Given the description of an element on the screen output the (x, y) to click on. 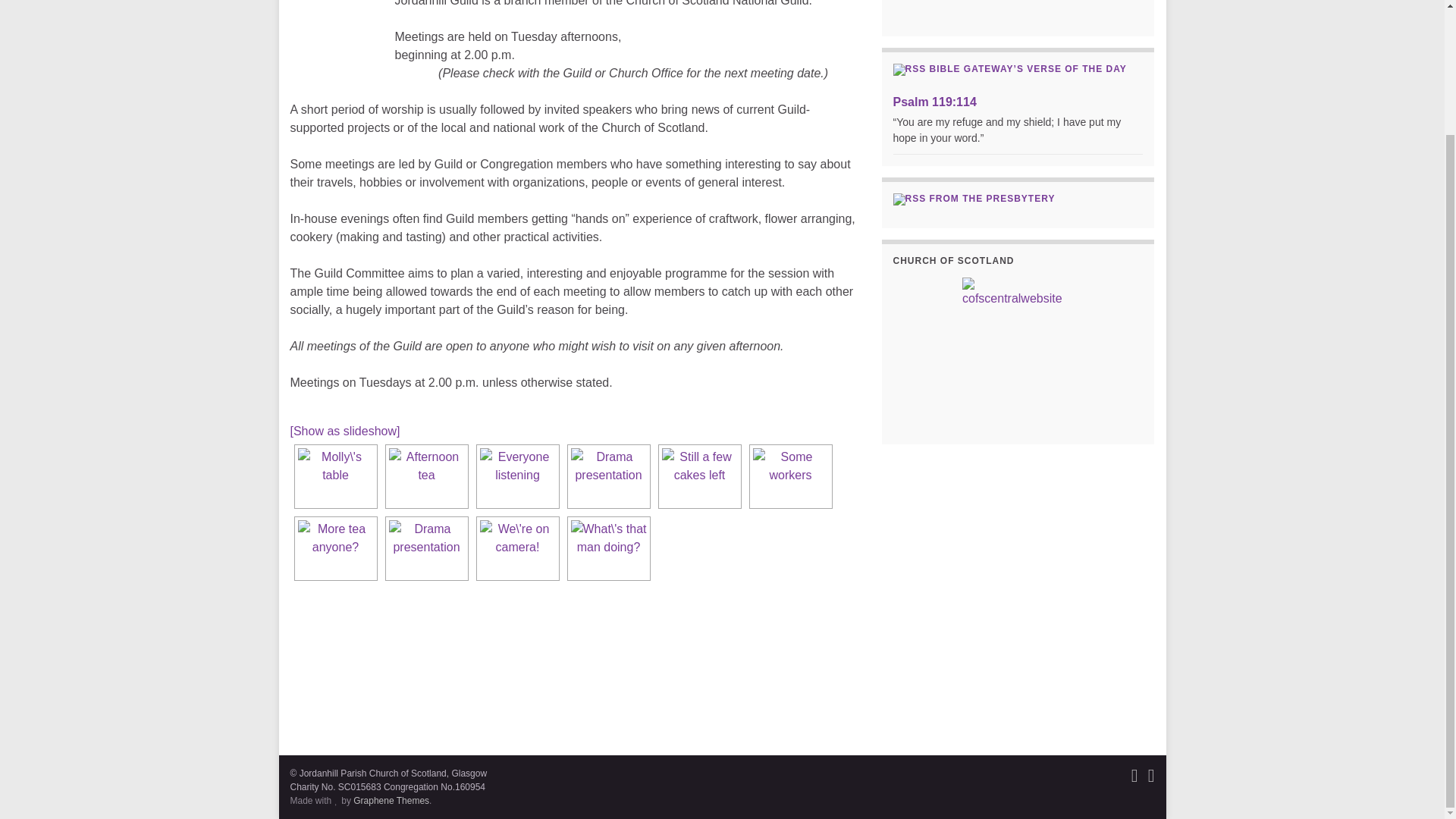
Still a few cakes left (698, 476)
Drama presentation (608, 476)
the guild (335, 18)
More tea anyone? (334, 548)
Afternoon tea (426, 476)
Everyone listening (516, 476)
Some workers (790, 476)
